Given the description of an element on the screen output the (x, y) to click on. 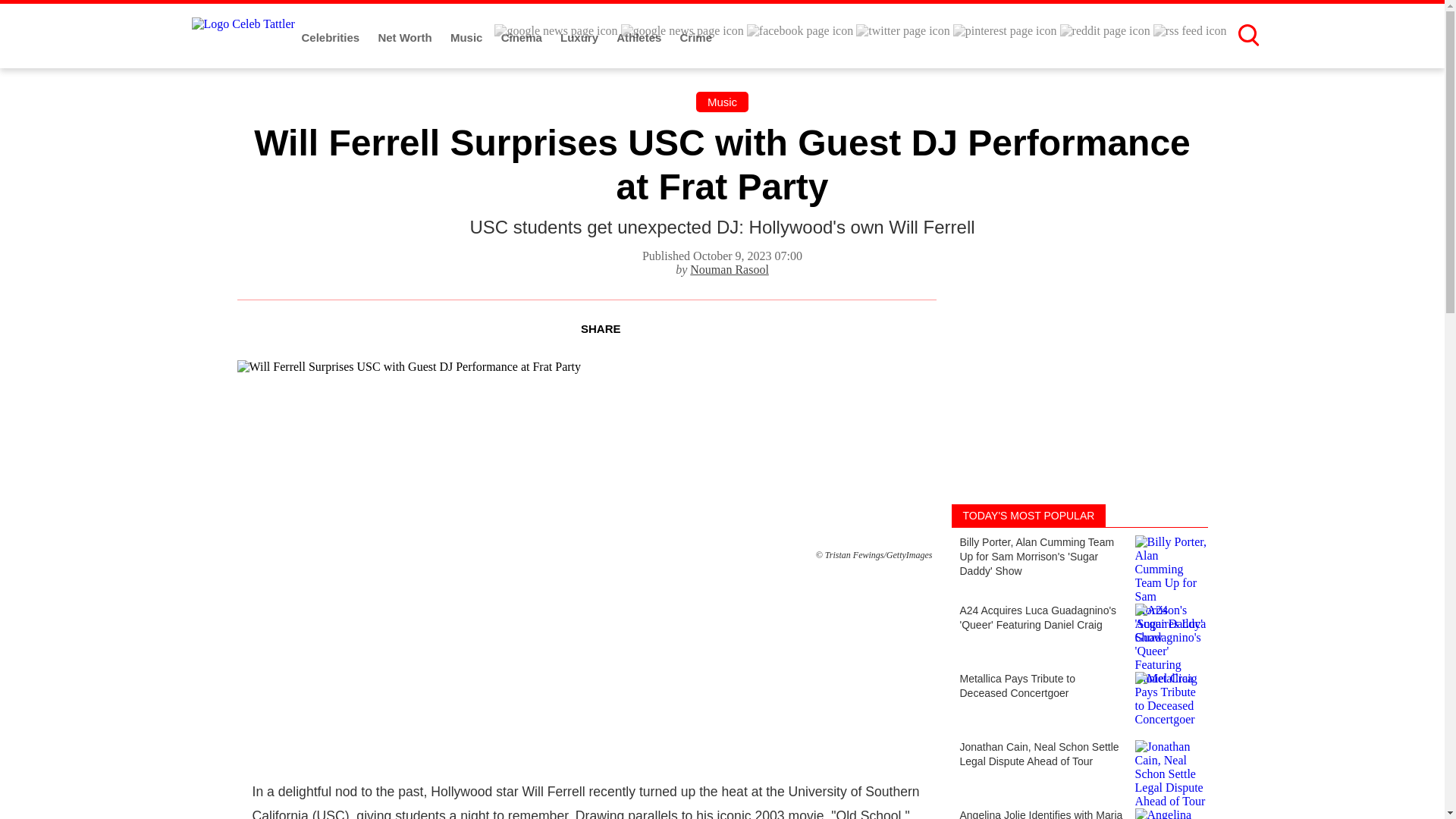
Music (467, 37)
Music (721, 101)
Crime (696, 37)
Net Worth (406, 37)
Athletes (639, 37)
Celebrities (331, 37)
Nouman Rasool (729, 269)
Luxury (580, 37)
Cinema (522, 37)
